Given the description of an element on the screen output the (x, y) to click on. 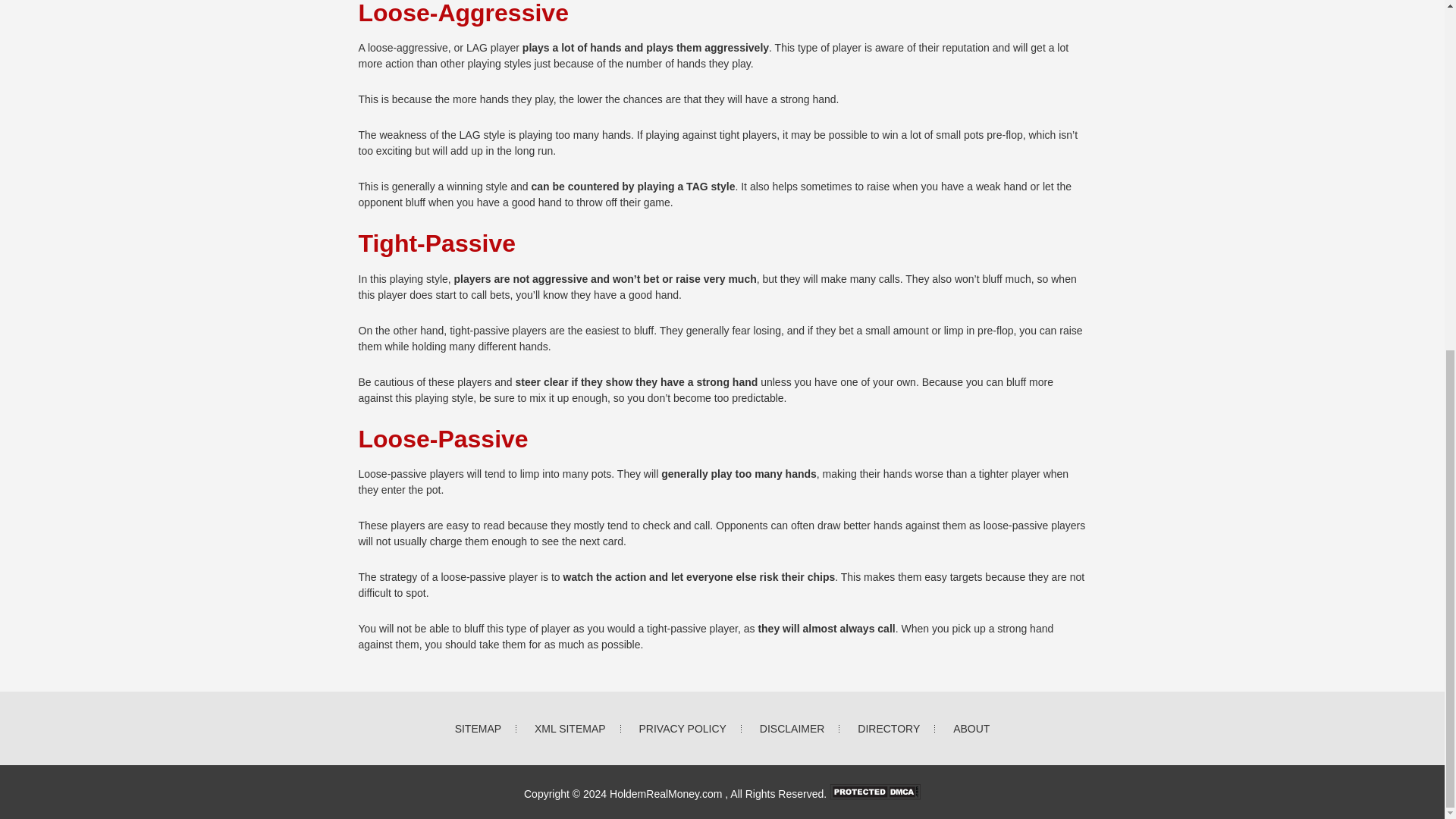
DISCLAIMER (792, 728)
XML SITEMAP (569, 728)
HoldemRealMoney.com (667, 793)
PRIVACY POLICY (682, 728)
ABOUT (971, 728)
DIRECTORY (888, 728)
DMCA.com Protection Status (874, 793)
SITEMAP (477, 728)
